Given the description of an element on the screen output the (x, y) to click on. 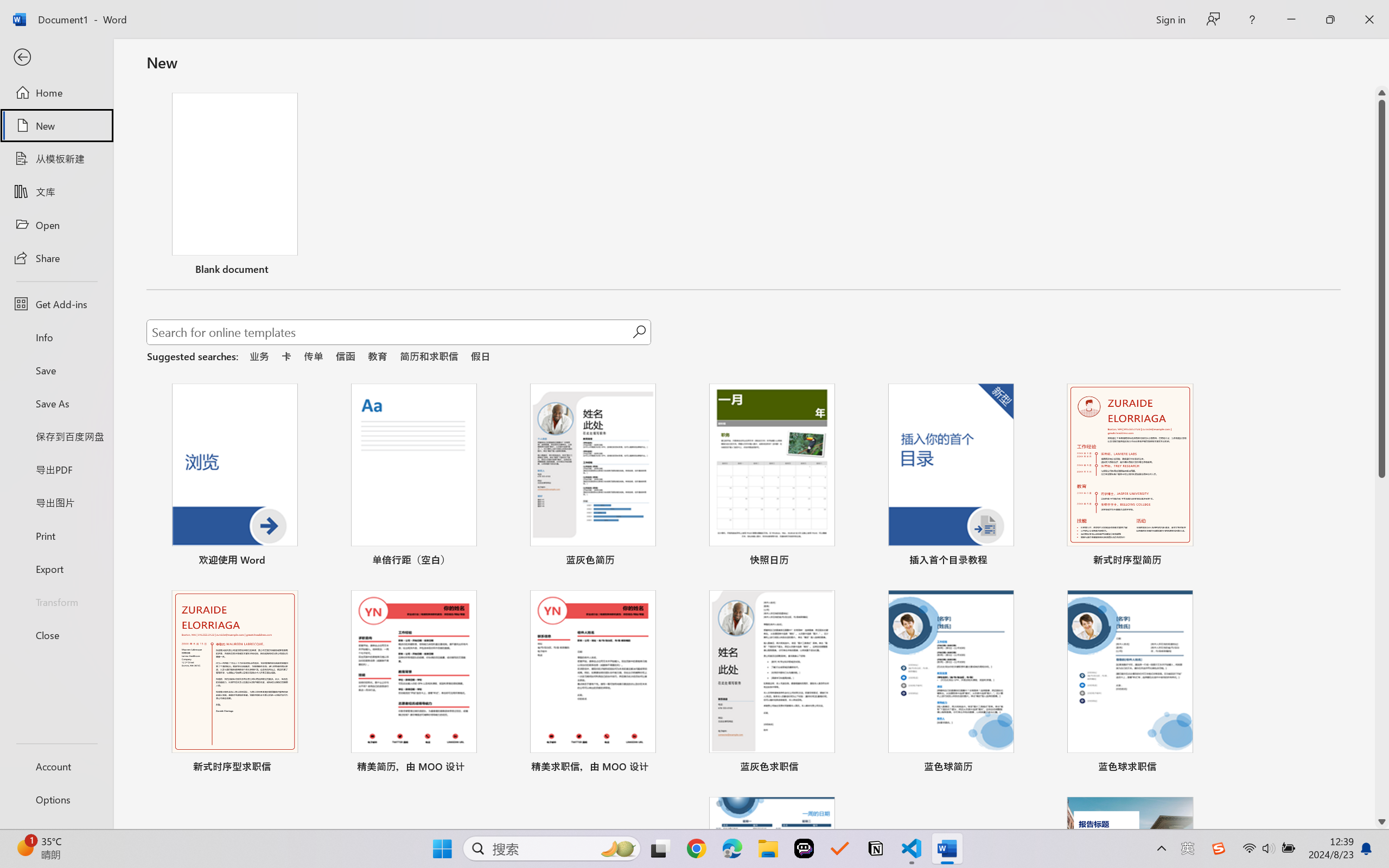
Line up (1382, 92)
